Given the description of an element on the screen output the (x, y) to click on. 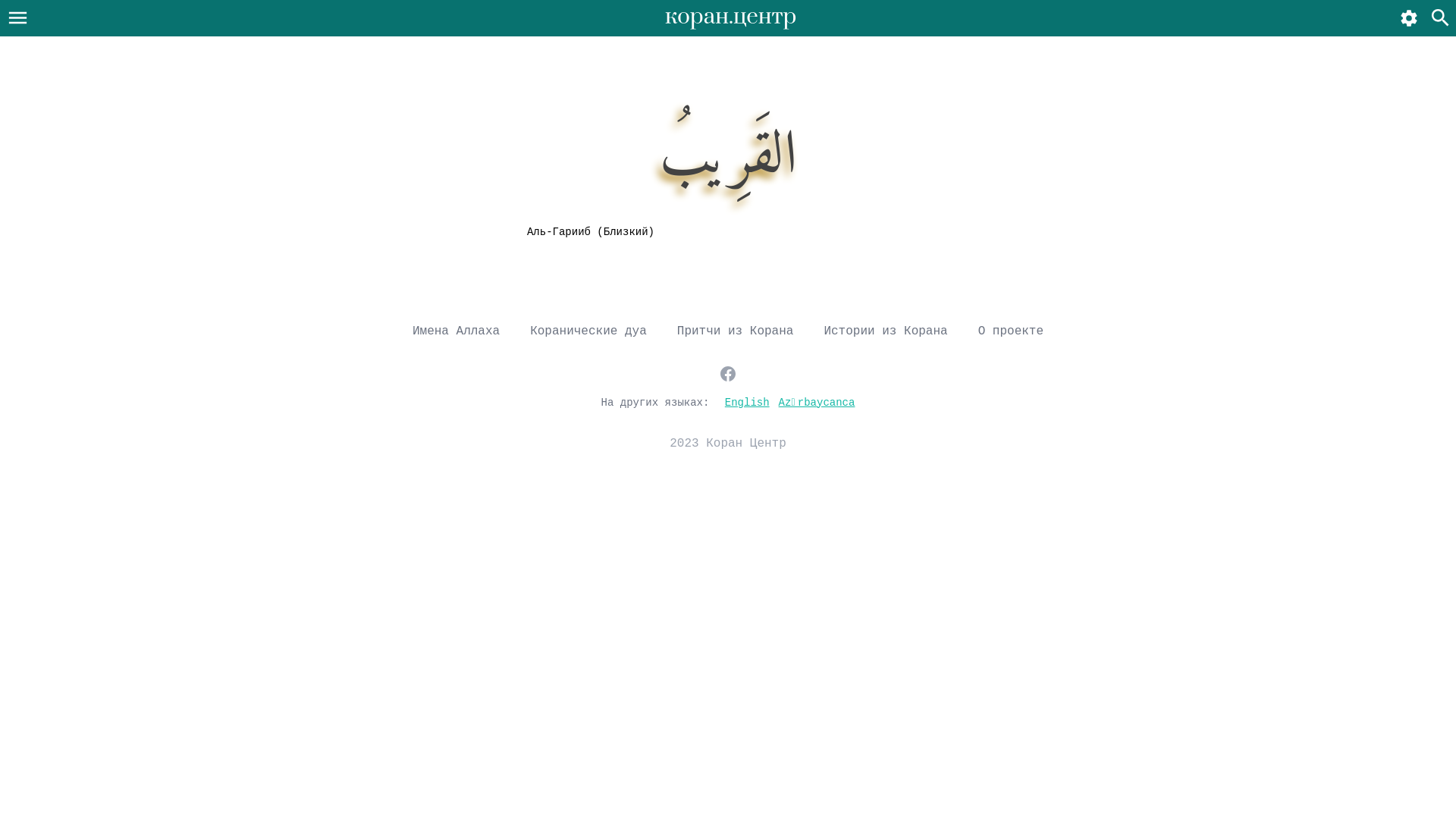
English Element type: text (746, 401)
Facebook Element type: text (727, 373)
